Given the description of an element on the screen output the (x, y) to click on. 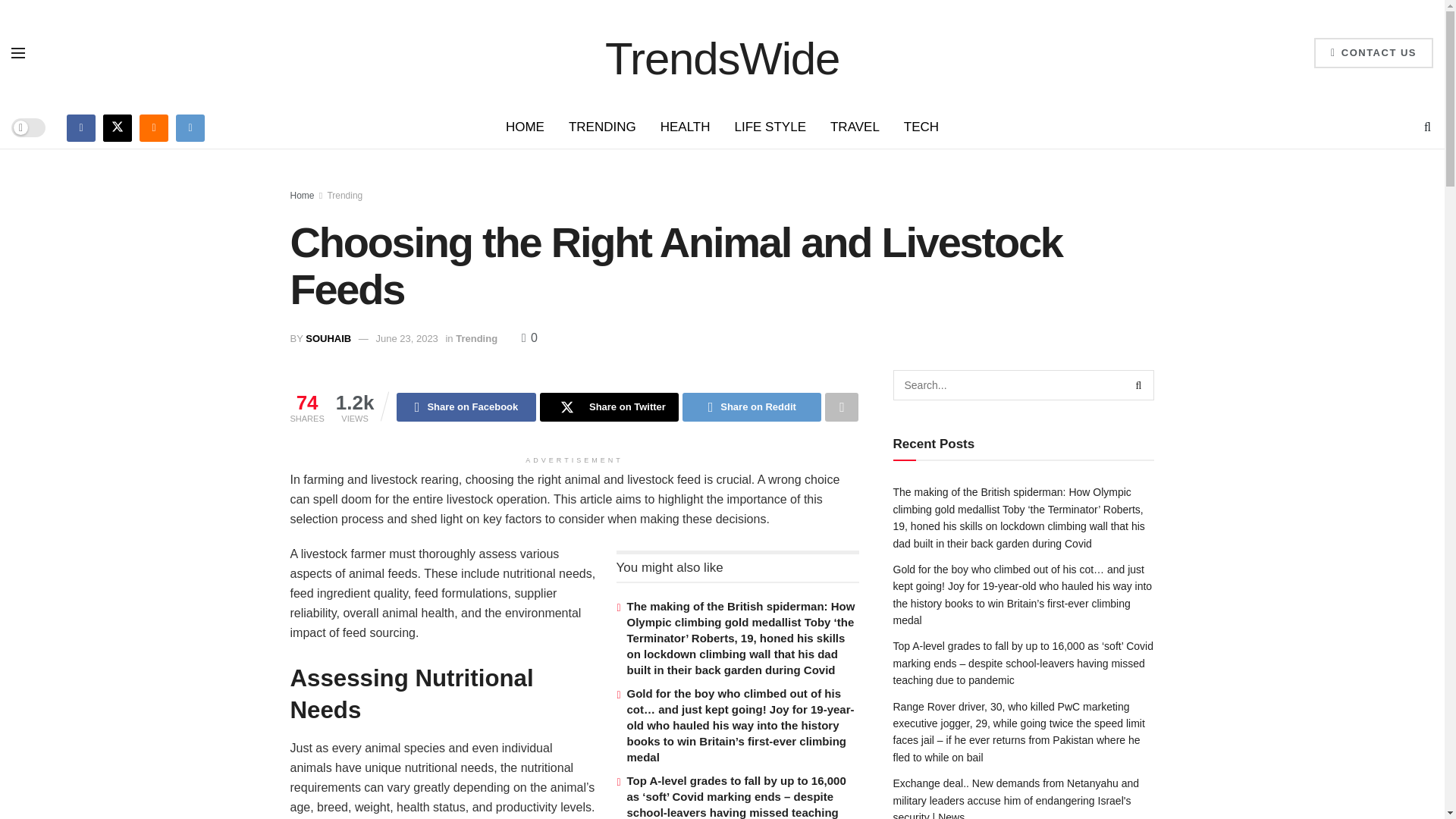
CONTACT US (1373, 52)
0 (529, 337)
TECH (920, 127)
June 23, 2023 (406, 337)
Share on Twitter (609, 407)
TRAVEL (854, 127)
TRENDING (601, 127)
Home (301, 195)
TrendsWide (722, 52)
Trending (476, 337)
